Given the description of an element on the screen output the (x, y) to click on. 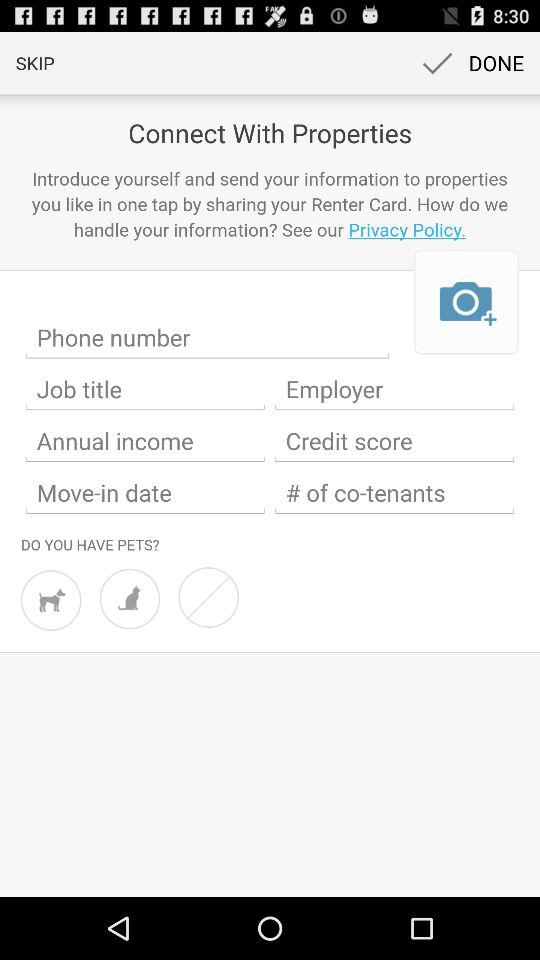
enter of co-tenants (394, 493)
